Given the description of an element on the screen output the (x, y) to click on. 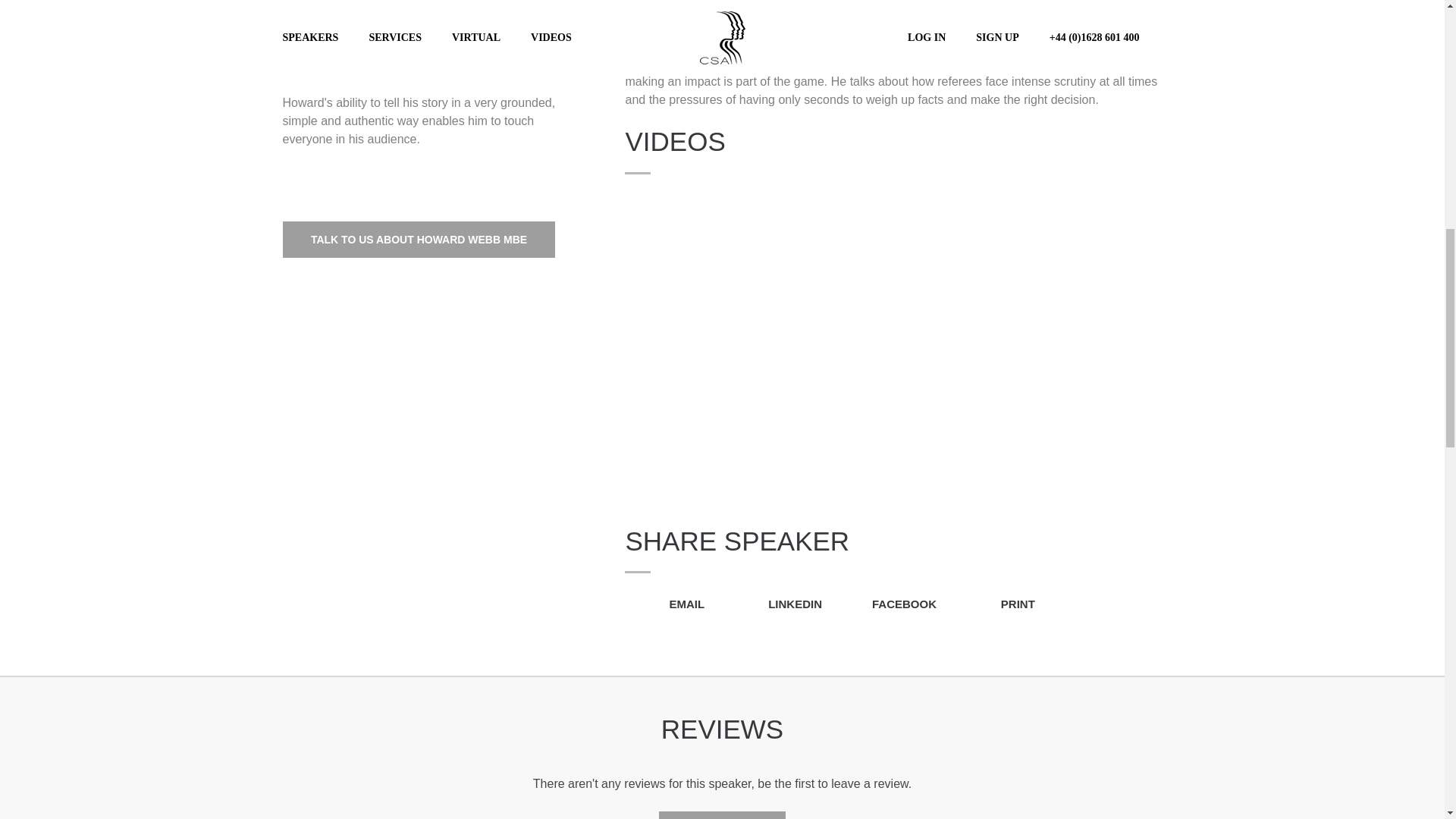
EMAIL (664, 604)
TALK TO US ABOUT HOWARD WEBB MBE (418, 239)
LEAVE A REVIEW (722, 815)
LINKEDIN (778, 604)
PRINT (1000, 604)
FACEBOOK (893, 604)
